Given the description of an element on the screen output the (x, y) to click on. 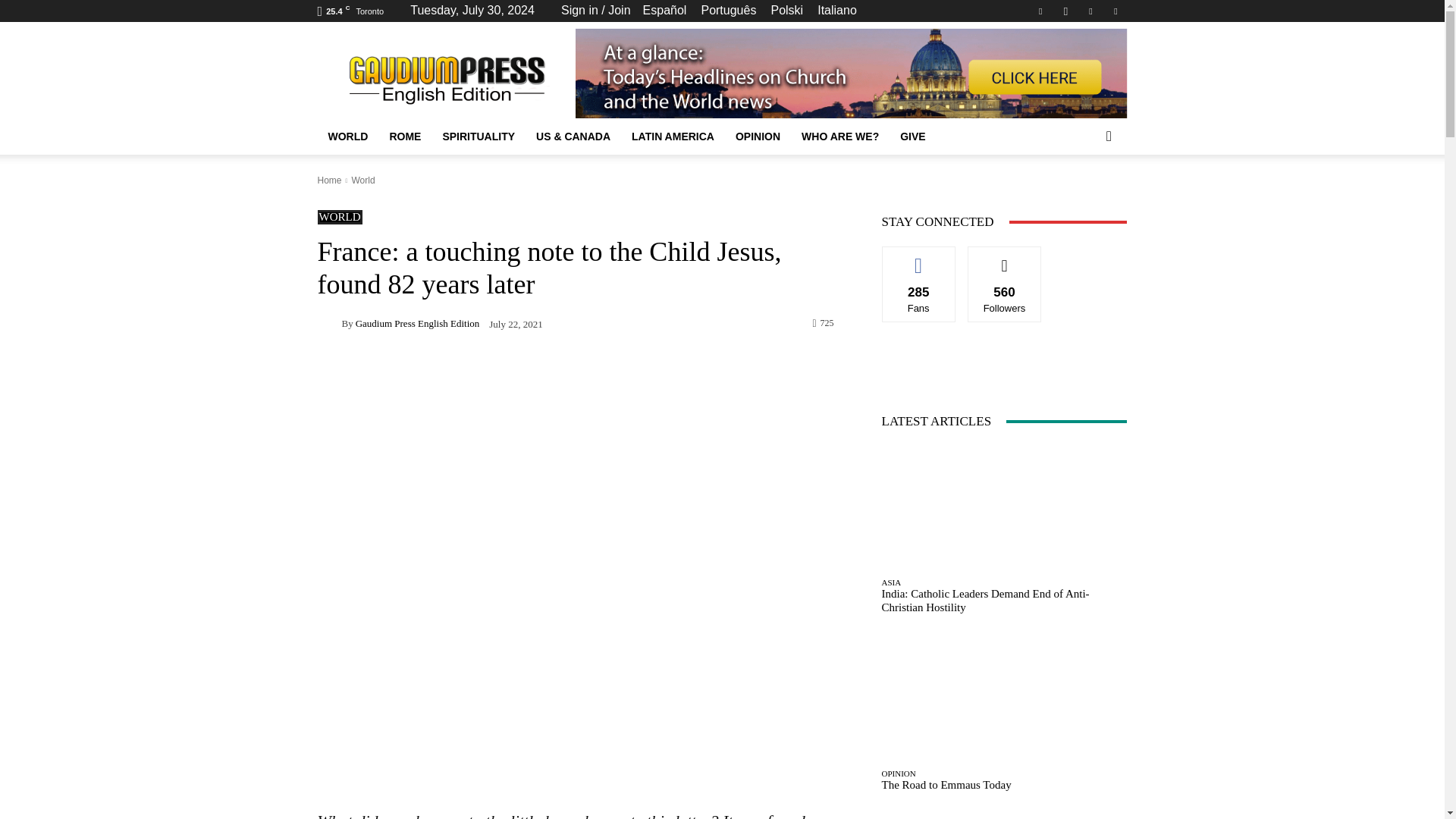
Instagram (1065, 10)
Italiano (836, 10)
Facebook (1040, 10)
WORLD (347, 135)
RSS (1090, 10)
Twitter (1114, 10)
Polski (786, 10)
